Given the description of an element on the screen output the (x, y) to click on. 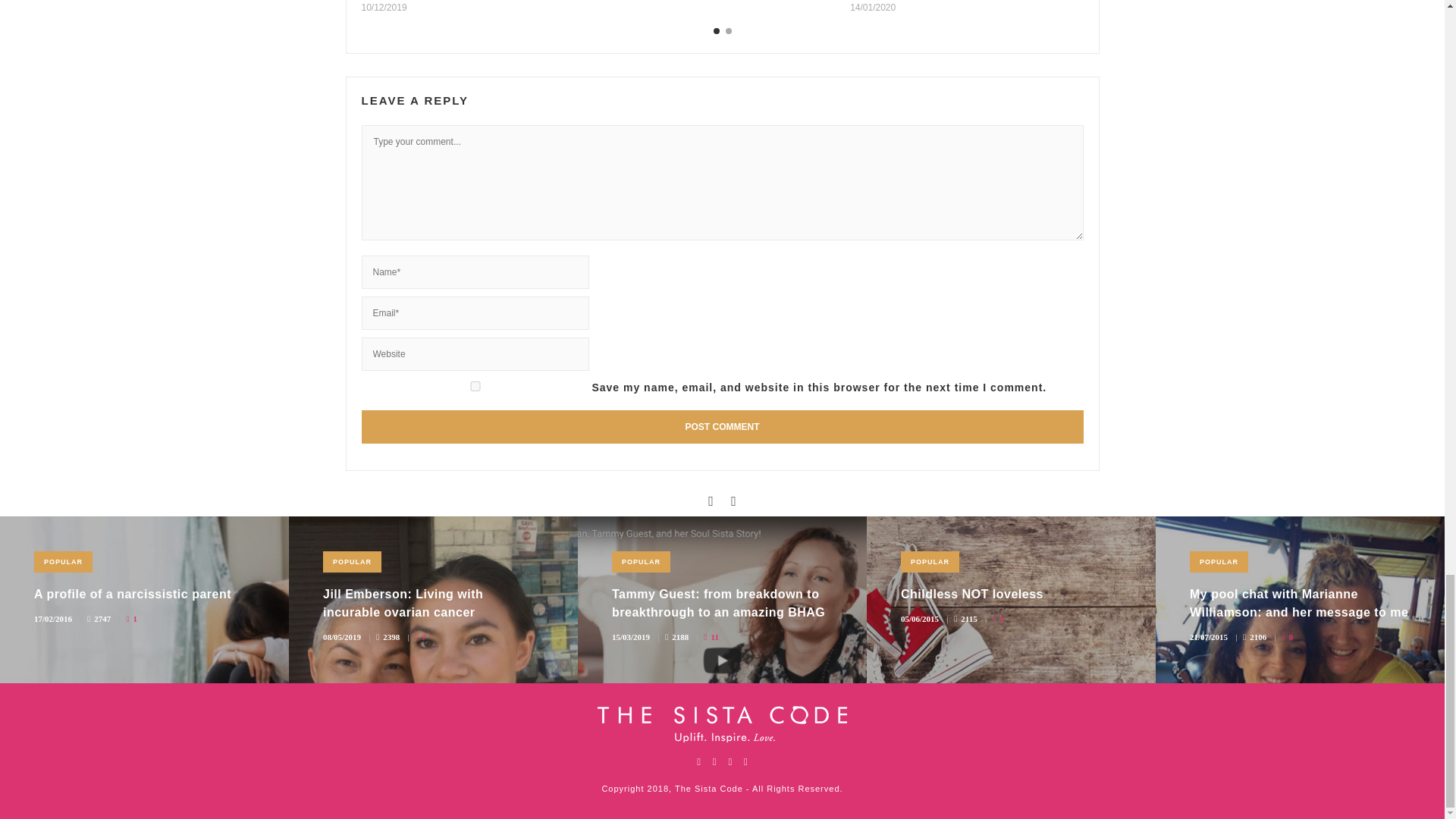
yes (474, 386)
Post Comment (722, 426)
